Given the description of an element on the screen output the (x, y) to click on. 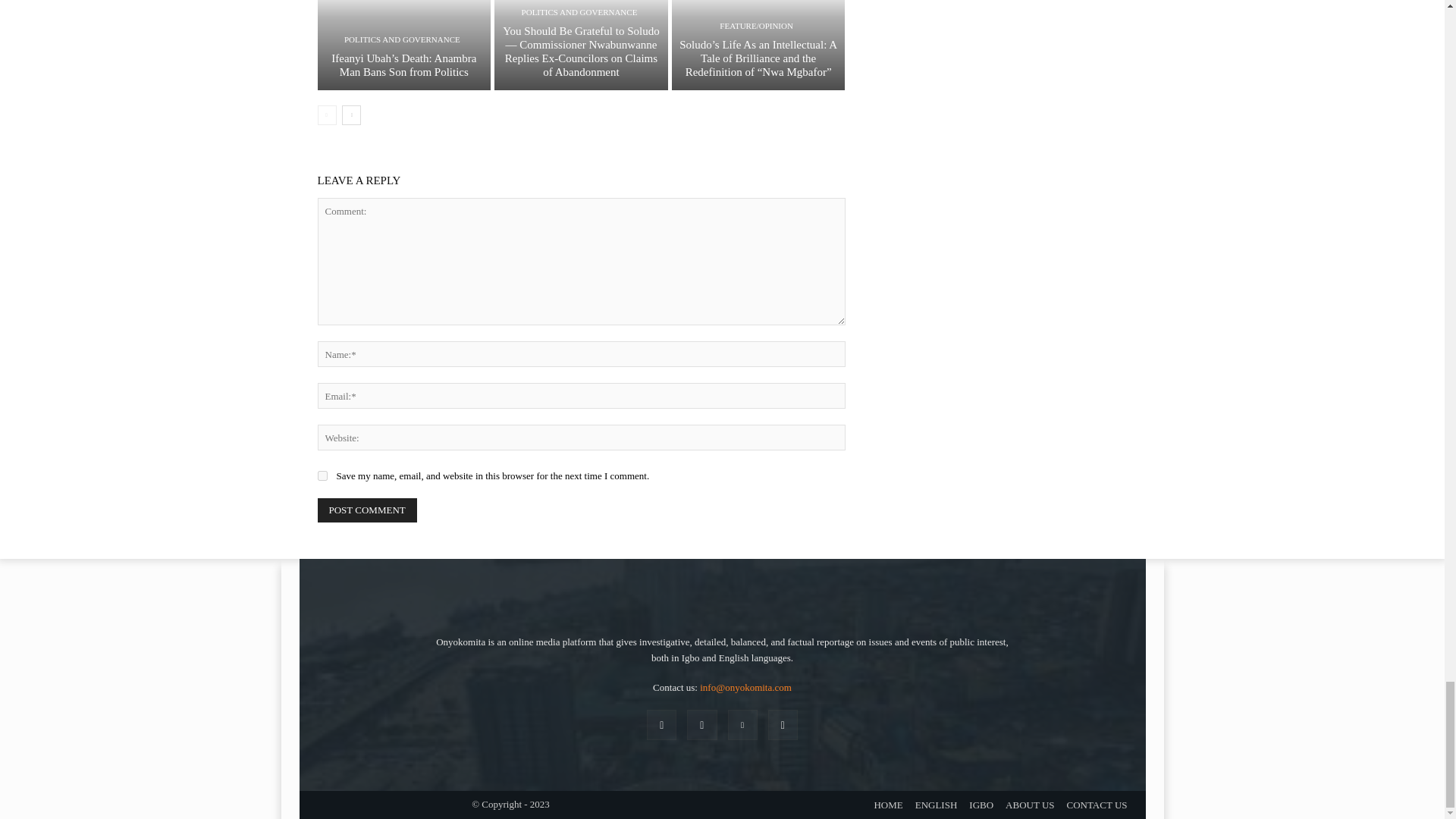
yes (321, 475)
Post Comment (366, 509)
